Given the description of an element on the screen output the (x, y) to click on. 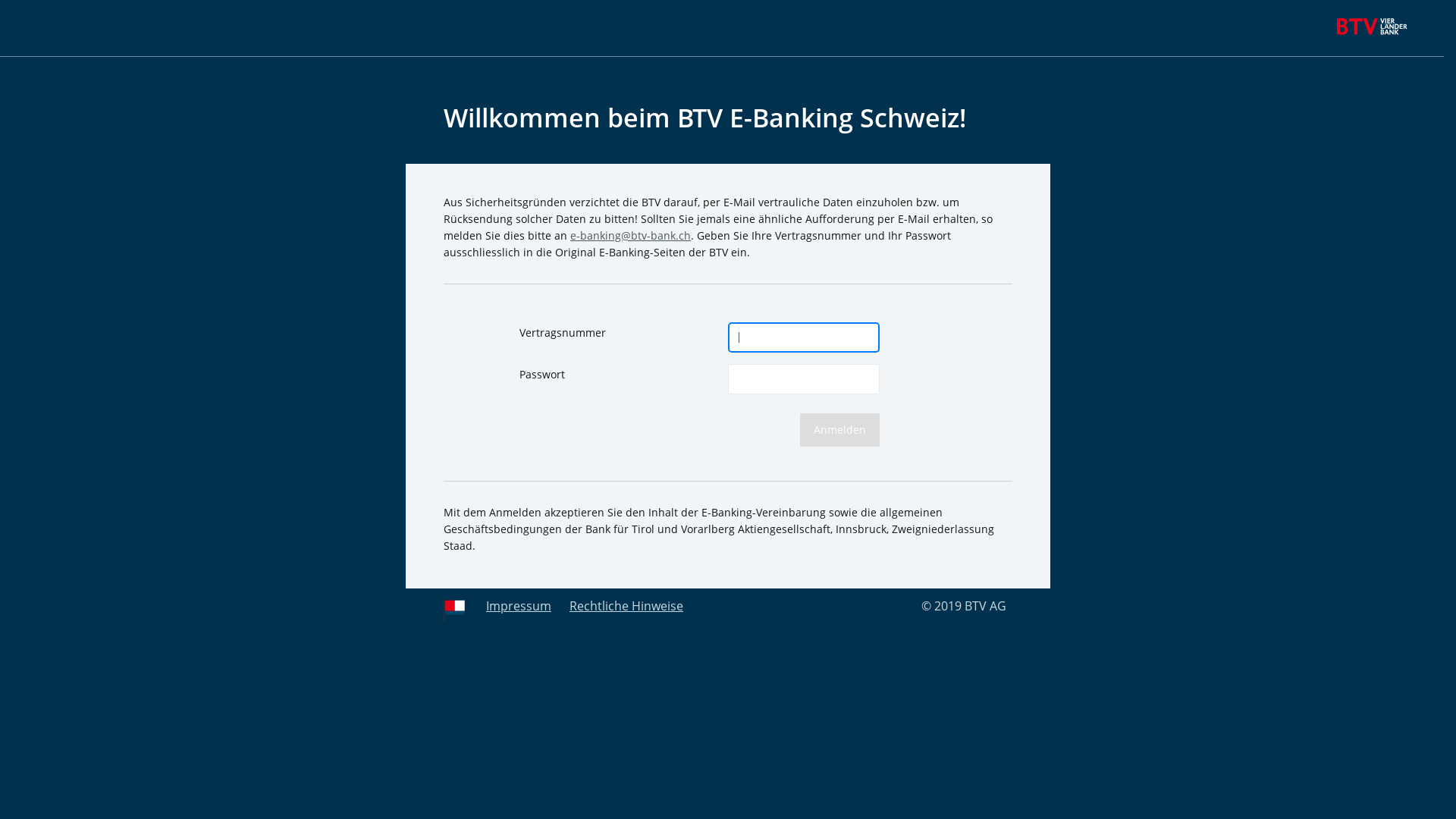
Impressum Element type: text (518, 605)
Anmelden Element type: text (839, 429)
Rechtliche Hinweise Element type: text (626, 605)
e-banking@btv-bank.ch Element type: text (630, 235)
